Given the description of an element on the screen output the (x, y) to click on. 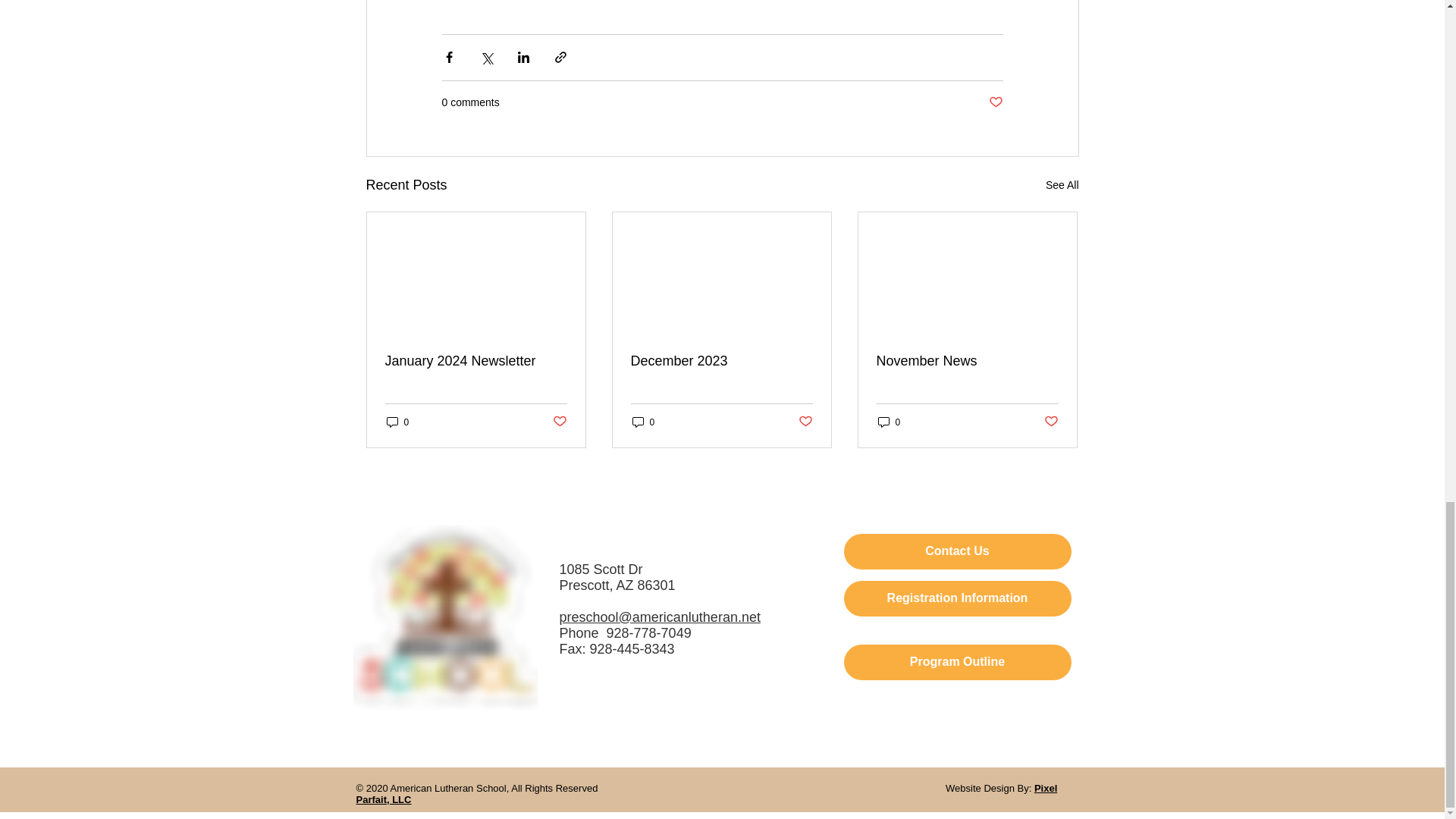
December 2023 (721, 360)
Post not marked as liked (804, 421)
November News (967, 360)
Contact Us (956, 551)
Post not marked as liked (995, 102)
See All (1061, 185)
Post not marked as liked (1050, 421)
0 (889, 421)
Post not marked as liked (558, 421)
Registration Information (956, 598)
0 (397, 421)
January 2024 Newsletter (476, 360)
Pixel Parfait, LLC (707, 793)
Program Outline (956, 662)
0 (643, 421)
